Given the description of an element on the screen output the (x, y) to click on. 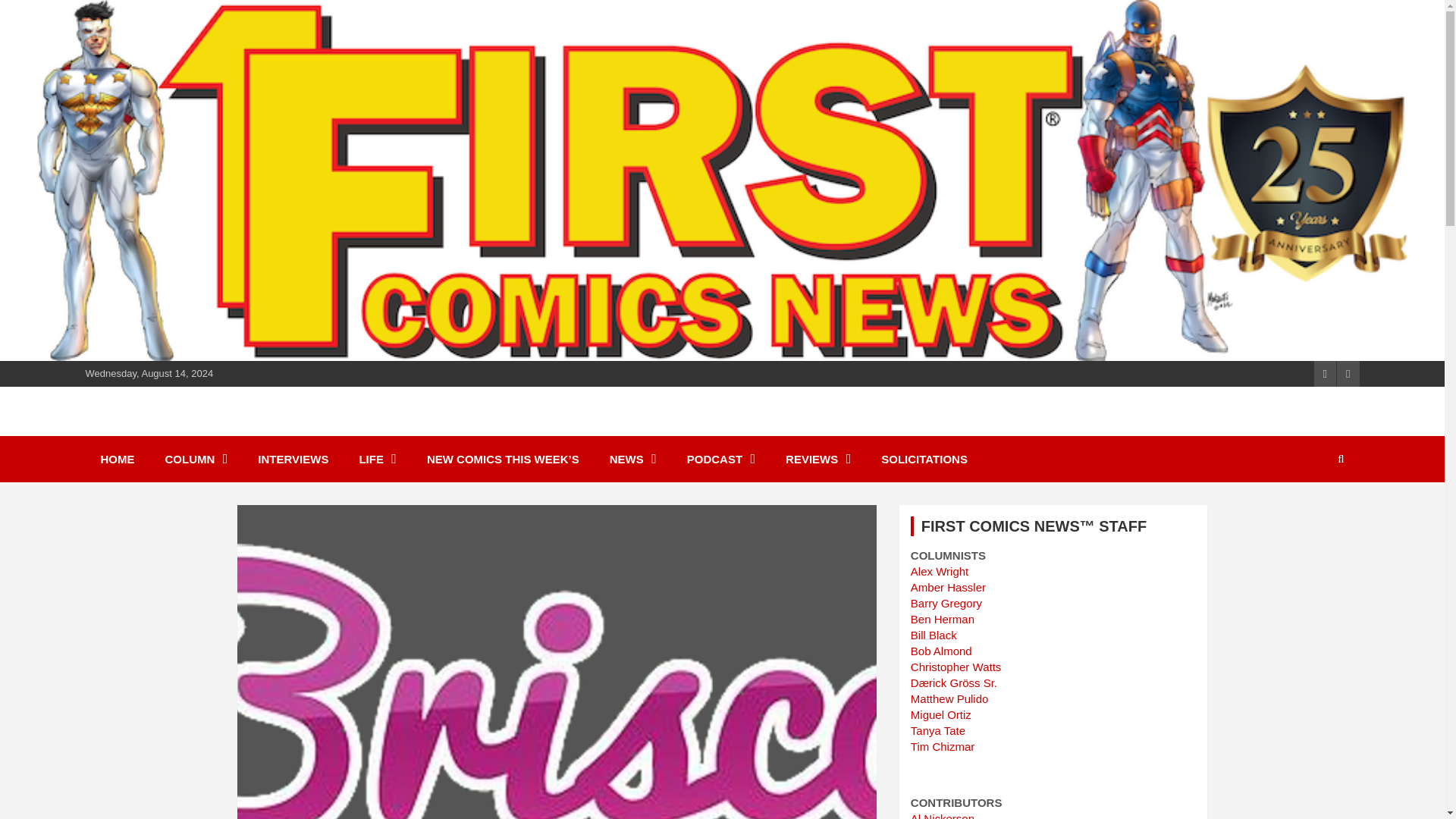
HOME (116, 458)
REVIEWS (818, 458)
COLUMN (196, 458)
LIFE (377, 458)
NEWS (632, 458)
First Comics News (220, 428)
INTERVIEWS (293, 458)
PODCAST (720, 458)
